Given the description of an element on the screen output the (x, y) to click on. 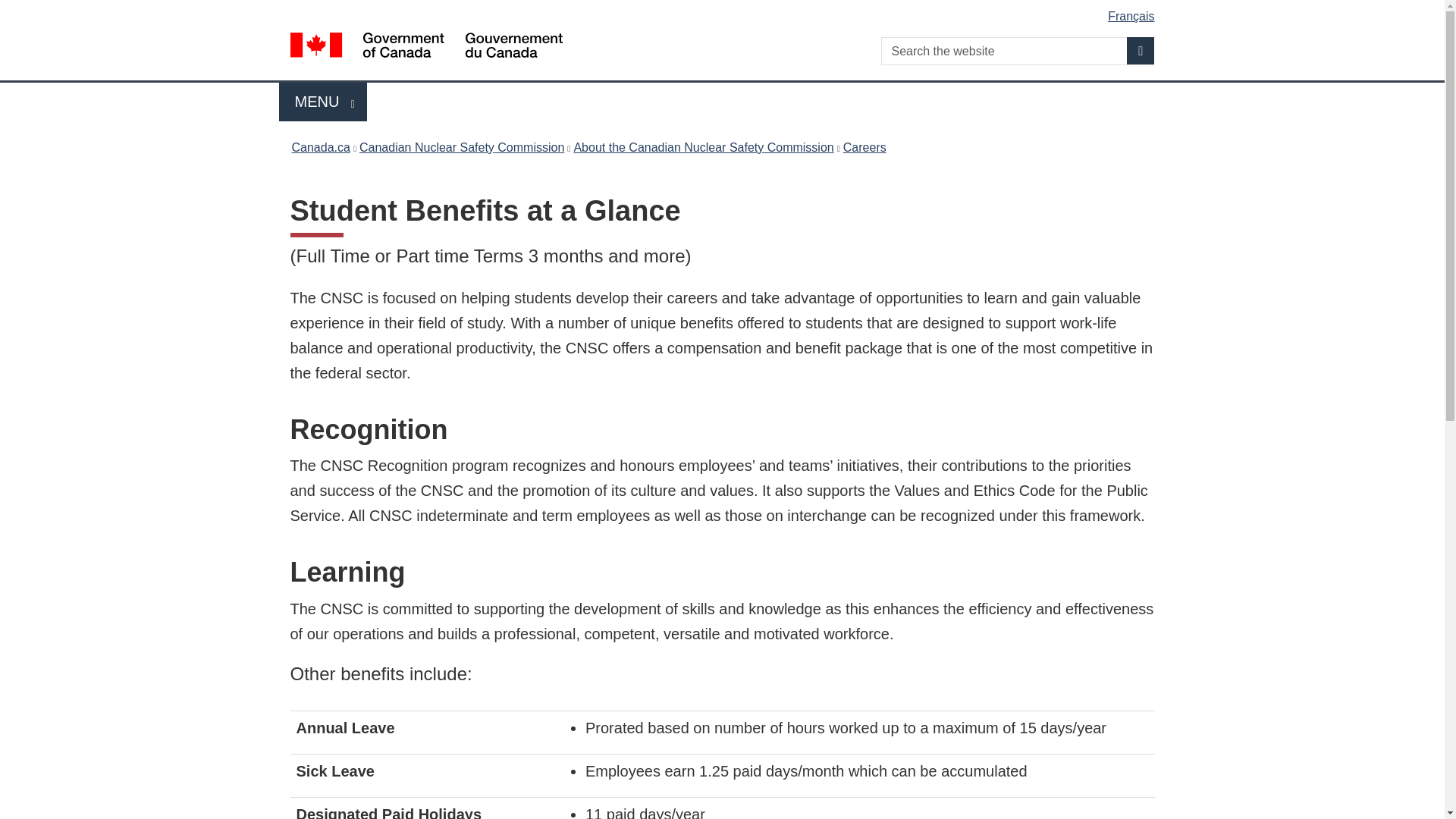
About the Canadian Nuclear Safety Commission (702, 147)
Careers (864, 147)
Skip to main content (322, 101)
Search (725, 11)
Canada.ca (1140, 50)
Canadian Nuclear Safety Commission (320, 147)
